Given the description of an element on the screen output the (x, y) to click on. 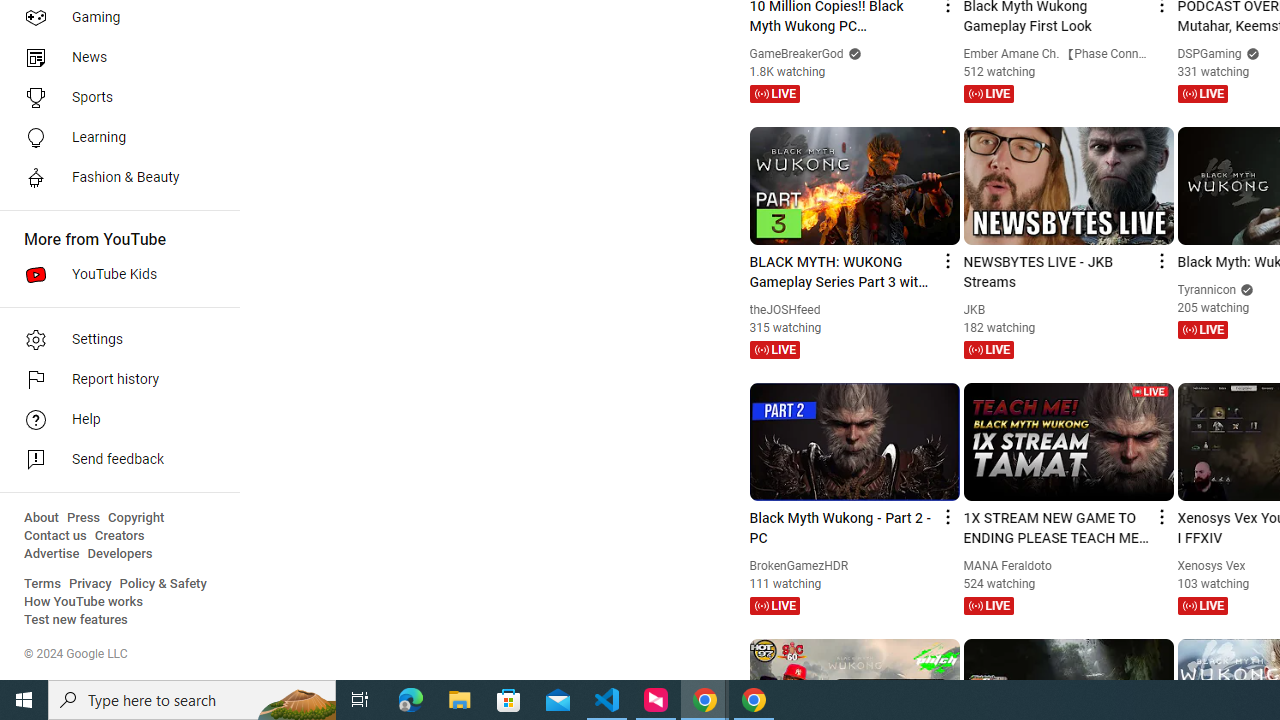
Advertise (51, 554)
YouTube Kids (113, 274)
theJOSHfeed (784, 309)
GameBreakerGod (796, 53)
Fashion & Beauty (113, 177)
Report history (113, 380)
BrokenGamezHDR (798, 566)
Policy & Safety (163, 584)
Black Myth Wukong - Part 2 - PC by BrokenGamezHDR 466 views (841, 528)
LIVE (1202, 605)
